Given the description of an element on the screen output the (x, y) to click on. 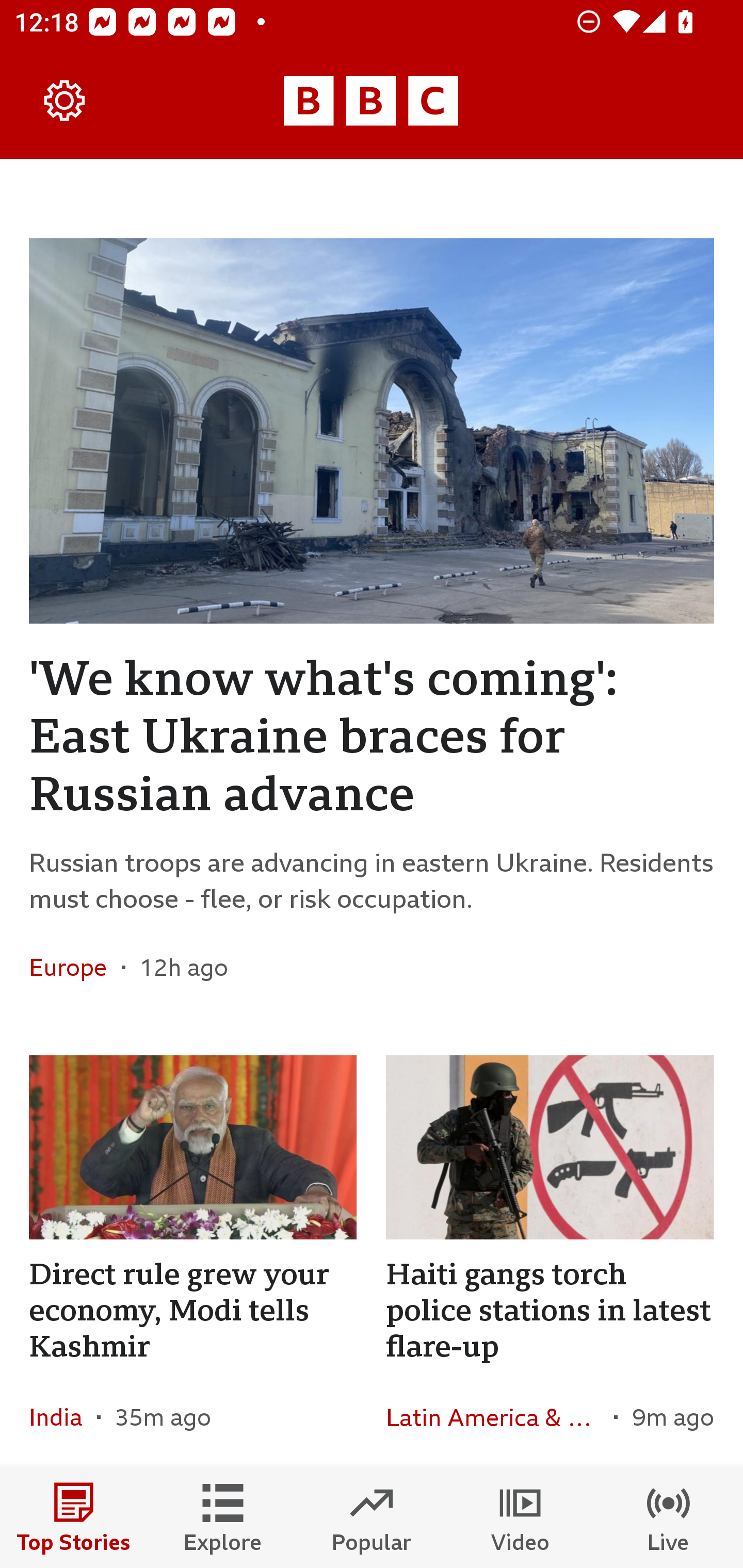
Settings (64, 100)
Europe In the section Europe (74, 967)
India In the section India (62, 1415)
Explore (222, 1517)
Popular (371, 1517)
Video (519, 1517)
Live (668, 1517)
